Given the description of an element on the screen output the (x, y) to click on. 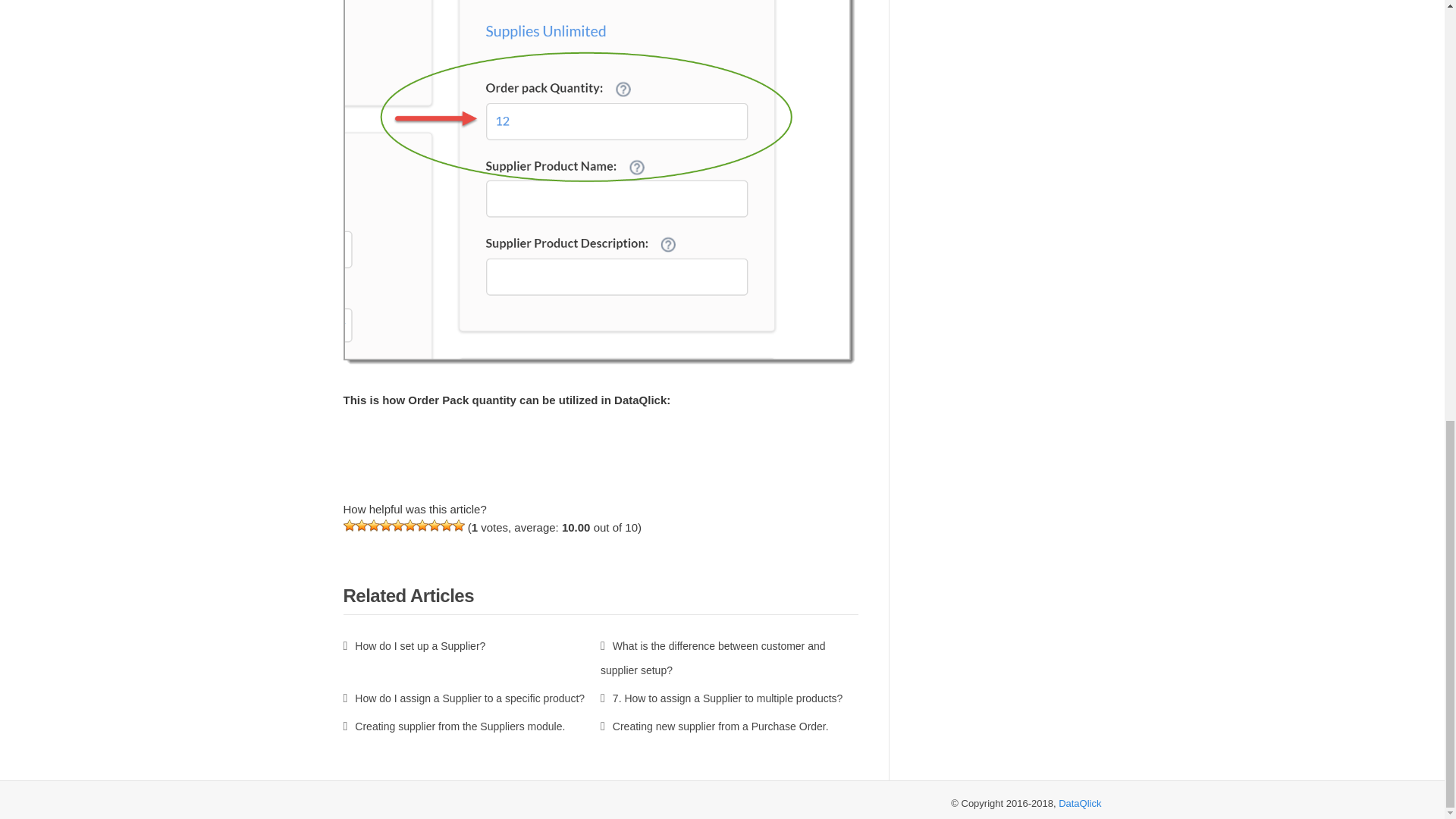
5 Stars (397, 525)
6 Stars (408, 525)
8 Stars (433, 525)
DataQlick (1079, 803)
7 Stars (421, 525)
Creating new supplier from a Purchase Order. (713, 726)
1 Star (348, 525)
3 Stars (372, 525)
4 Stars (384, 525)
How do I set up a Supplier? (413, 645)
7. How to assign a Supplier to multiple products? (721, 698)
How do I assign a Supplier to a specific product? (463, 698)
2 Stars (360, 525)
What is the difference between customer and supplier setup? (712, 657)
Creating supplier from the Suppliers module. (453, 726)
